Given the description of an element on the screen output the (x, y) to click on. 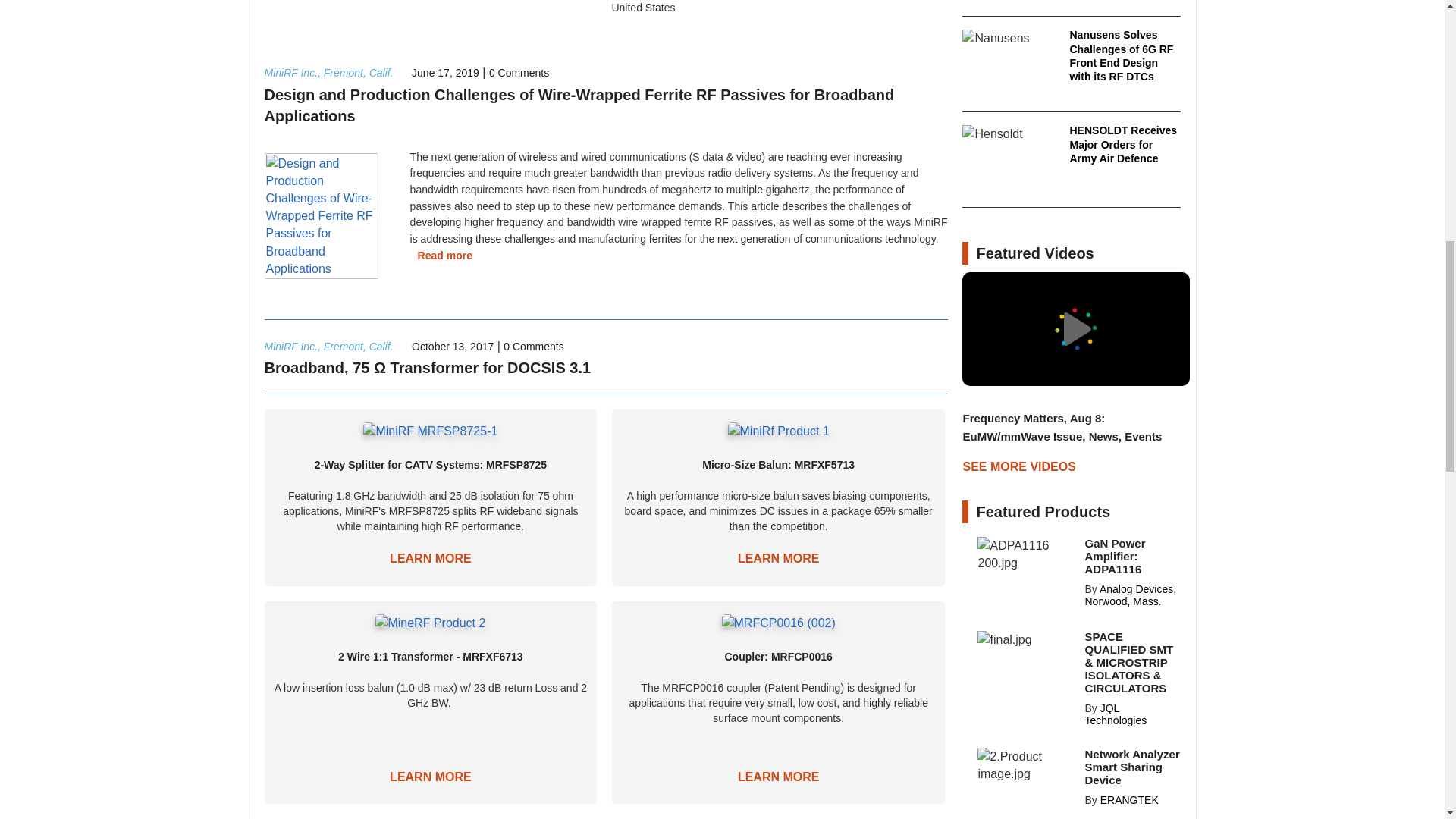
Micro-Size Balun:  MRFXF5713 (777, 557)
Coupler: MRFCP0016 (778, 621)
2 Wire 1:1 Transformer - MRFXF6713 (429, 621)
MiniRf Product 1 (778, 430)
Coupler: MRFCP0016 (777, 776)
MineRF Product 2 (429, 622)
Micro-Size Balun:  MRFXF5713 (778, 430)
2-Way Splitter for CATV Systems: MRFSP8725 (429, 557)
